Given the description of an element on the screen output the (x, y) to click on. 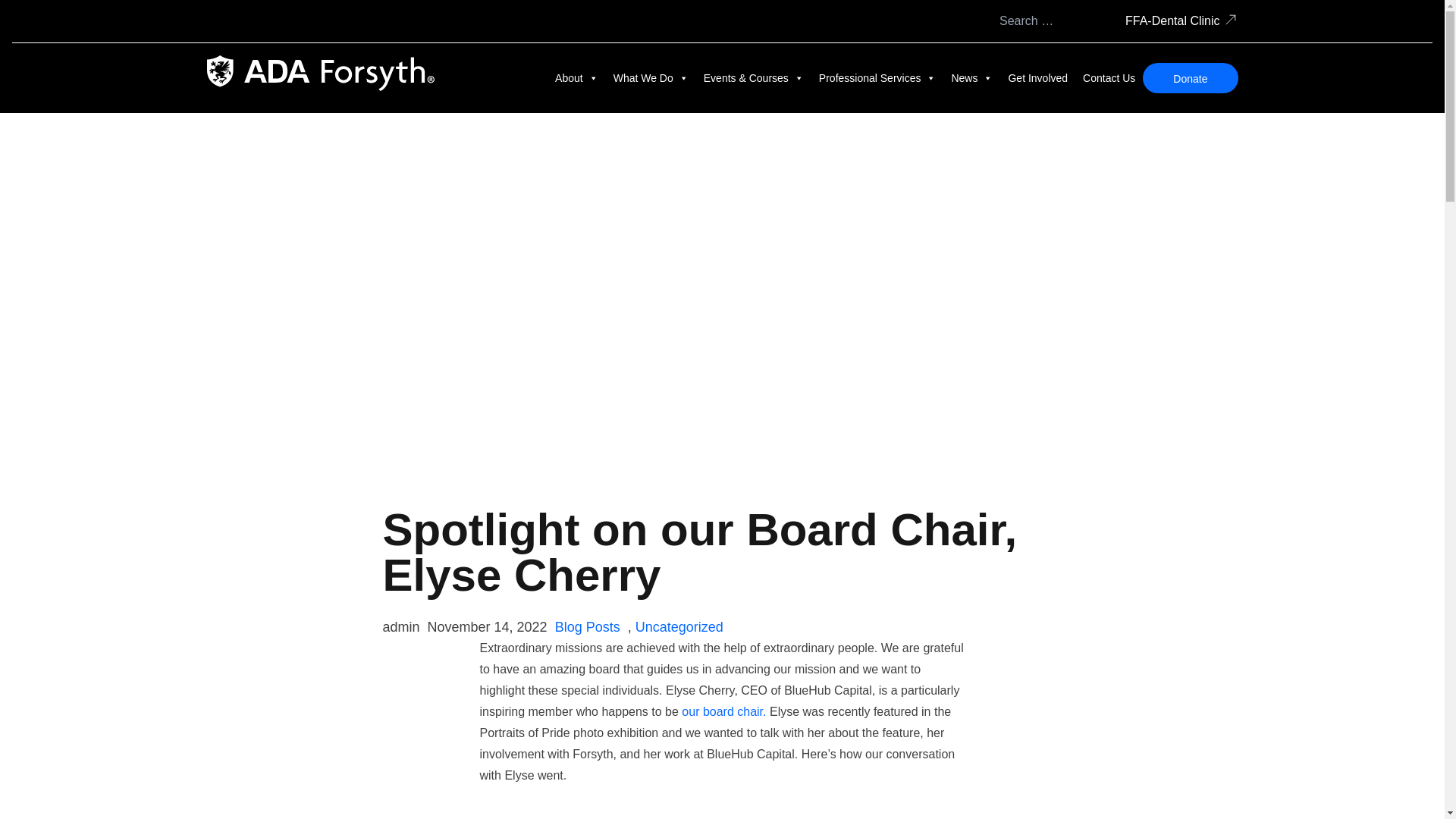
About (576, 77)
Search (1099, 21)
FFA-Dental Clinic (1172, 21)
Search (1099, 21)
Search (1099, 21)
What We Do (650, 77)
